Given the description of an element on the screen output the (x, y) to click on. 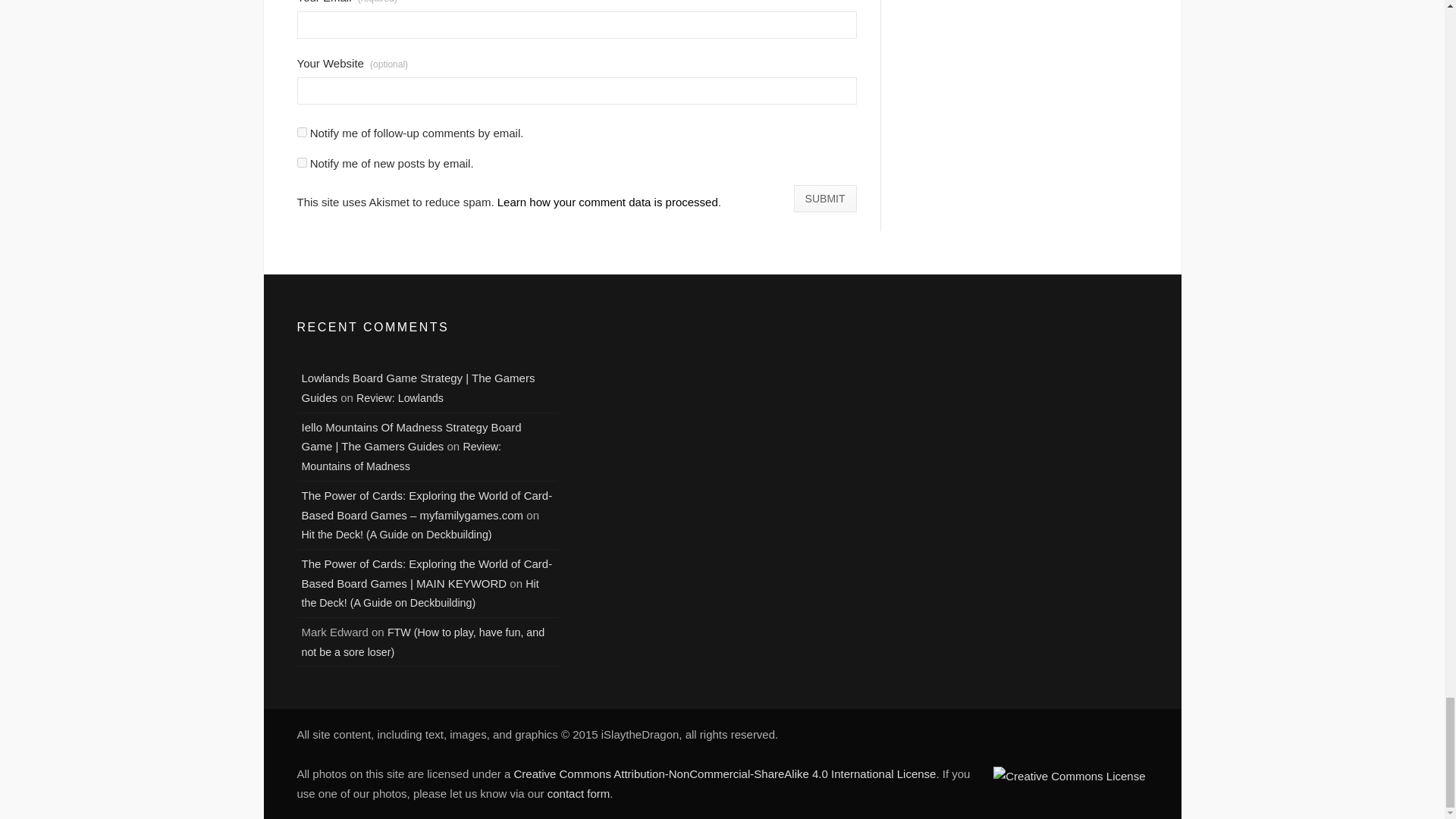
subscribe (302, 162)
subscribe (302, 132)
Submit (825, 198)
